Given the description of an element on the screen output the (x, y) to click on. 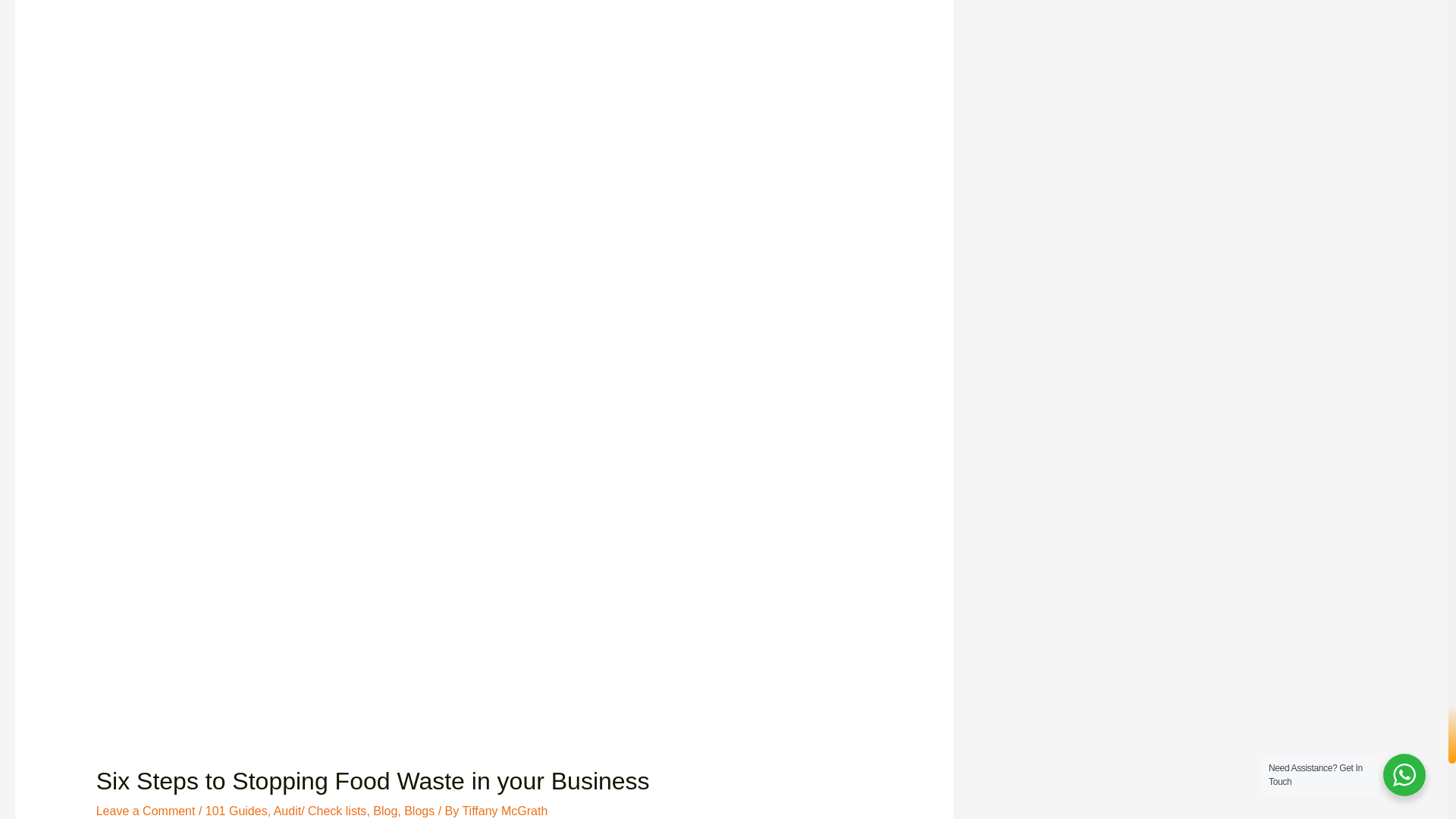
View all posts by Tiffany McGrath (504, 809)
